Given the description of an element on the screen output the (x, y) to click on. 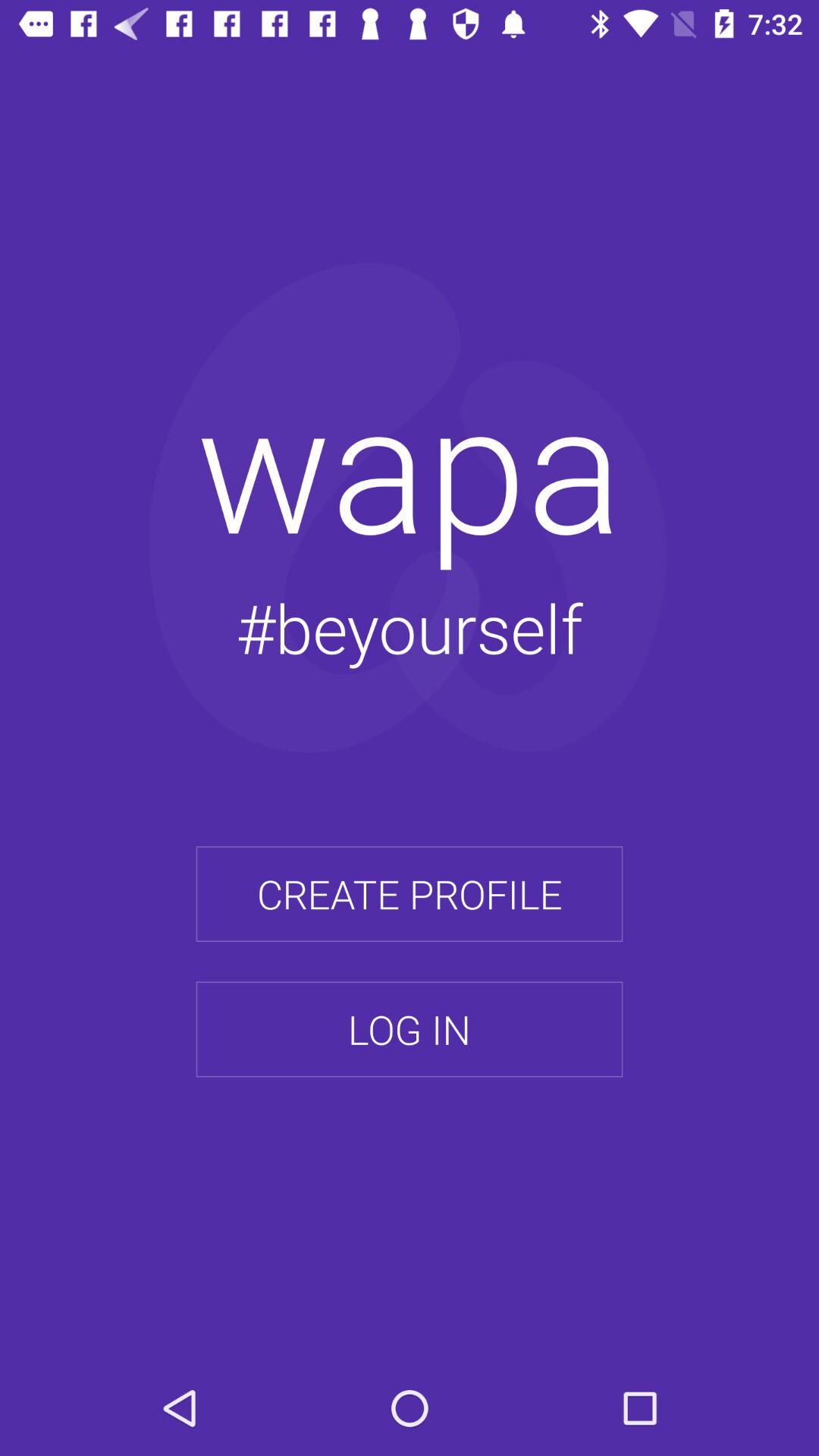
flip until the log in (409, 1029)
